Given the description of an element on the screen output the (x, y) to click on. 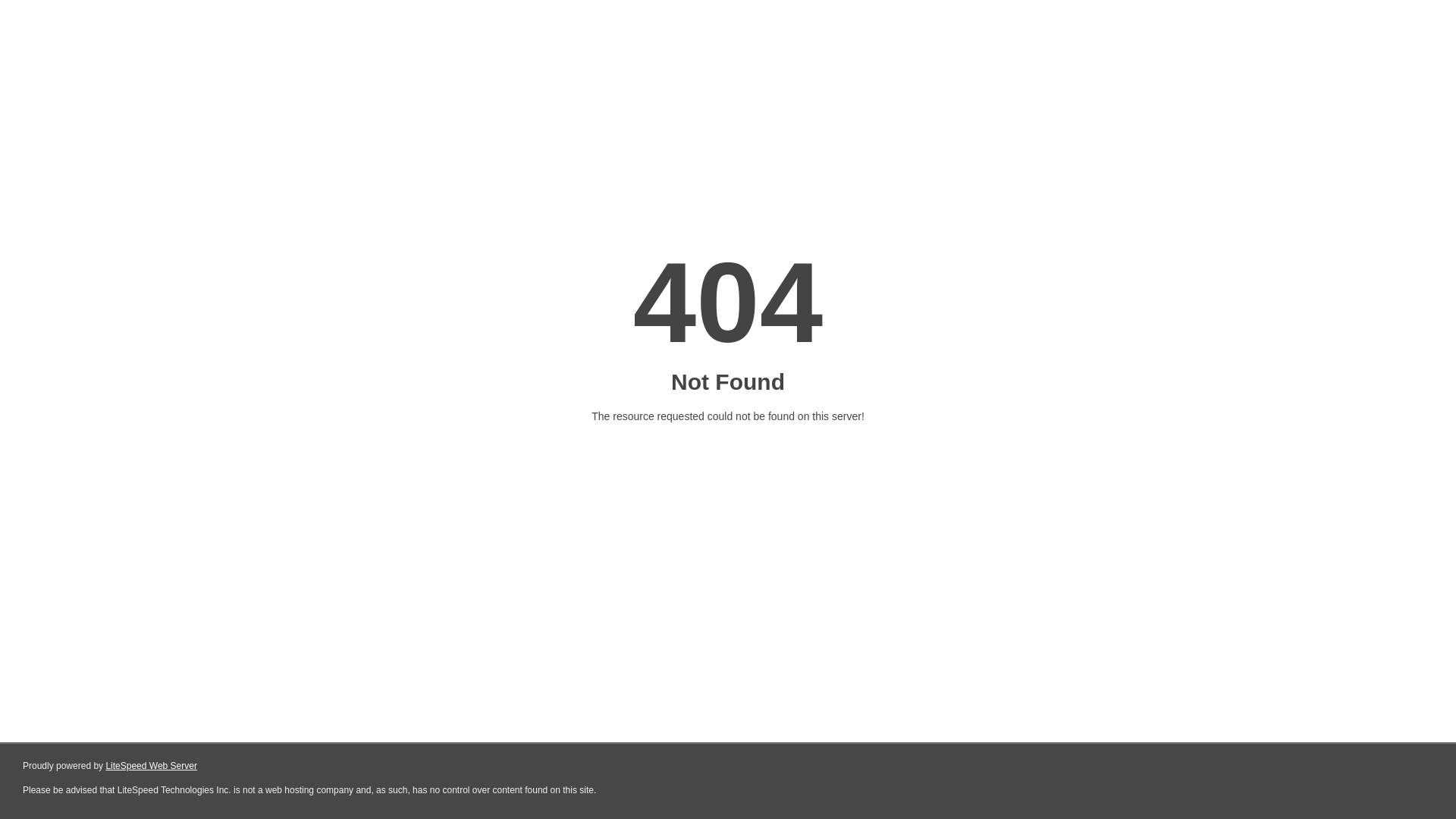
LiteSpeed Web Server Element type: text (151, 765)
